Given the description of an element on the screen output the (x, y) to click on. 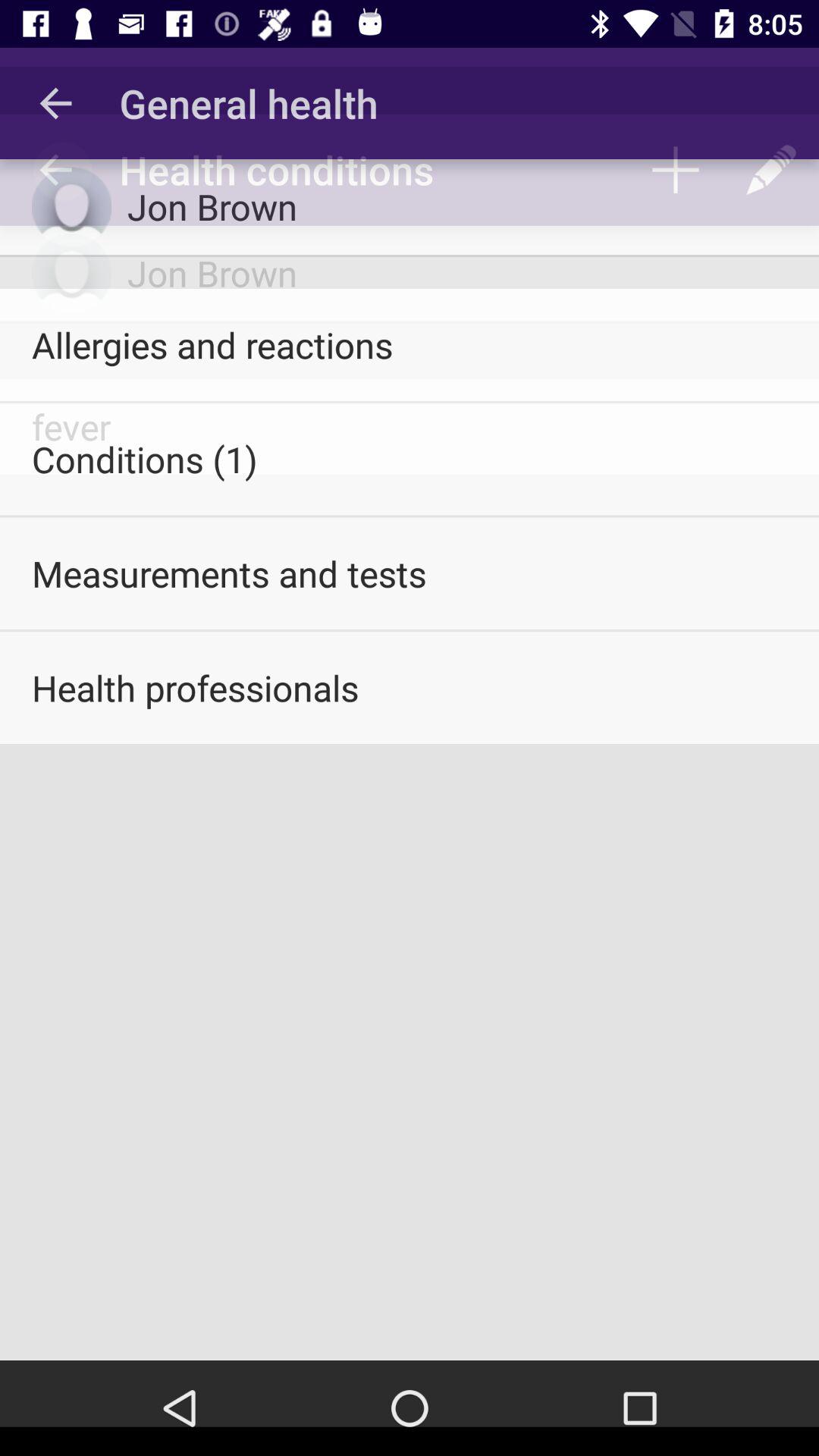
click icon above the conditions (1) (409, 344)
